Given the description of an element on the screen output the (x, y) to click on. 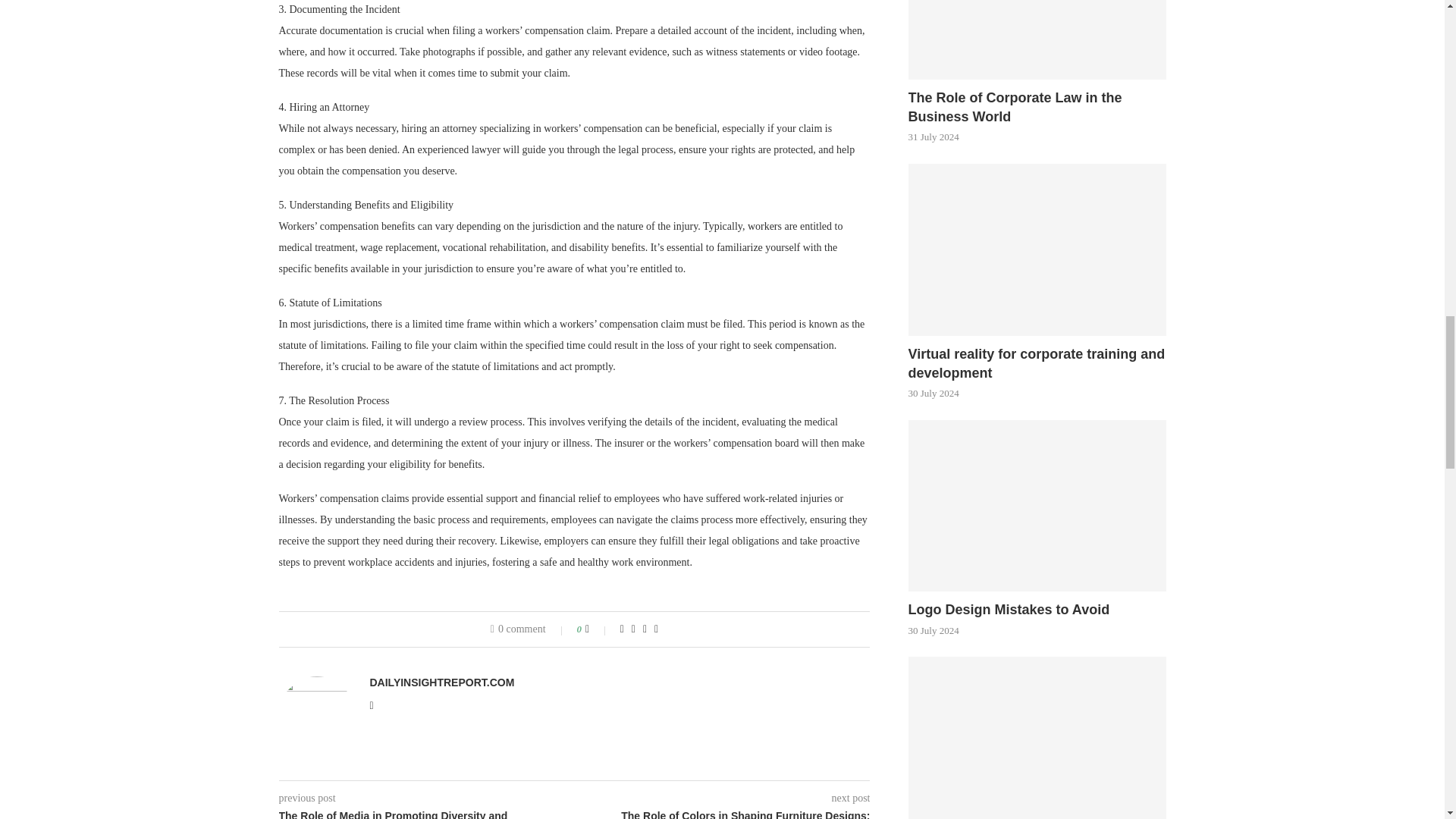
DAILYINSIGHTREPORT.COM (442, 682)
Like (597, 629)
Author dailyinsightreport.com (442, 682)
